Given the description of an element on the screen output the (x, y) to click on. 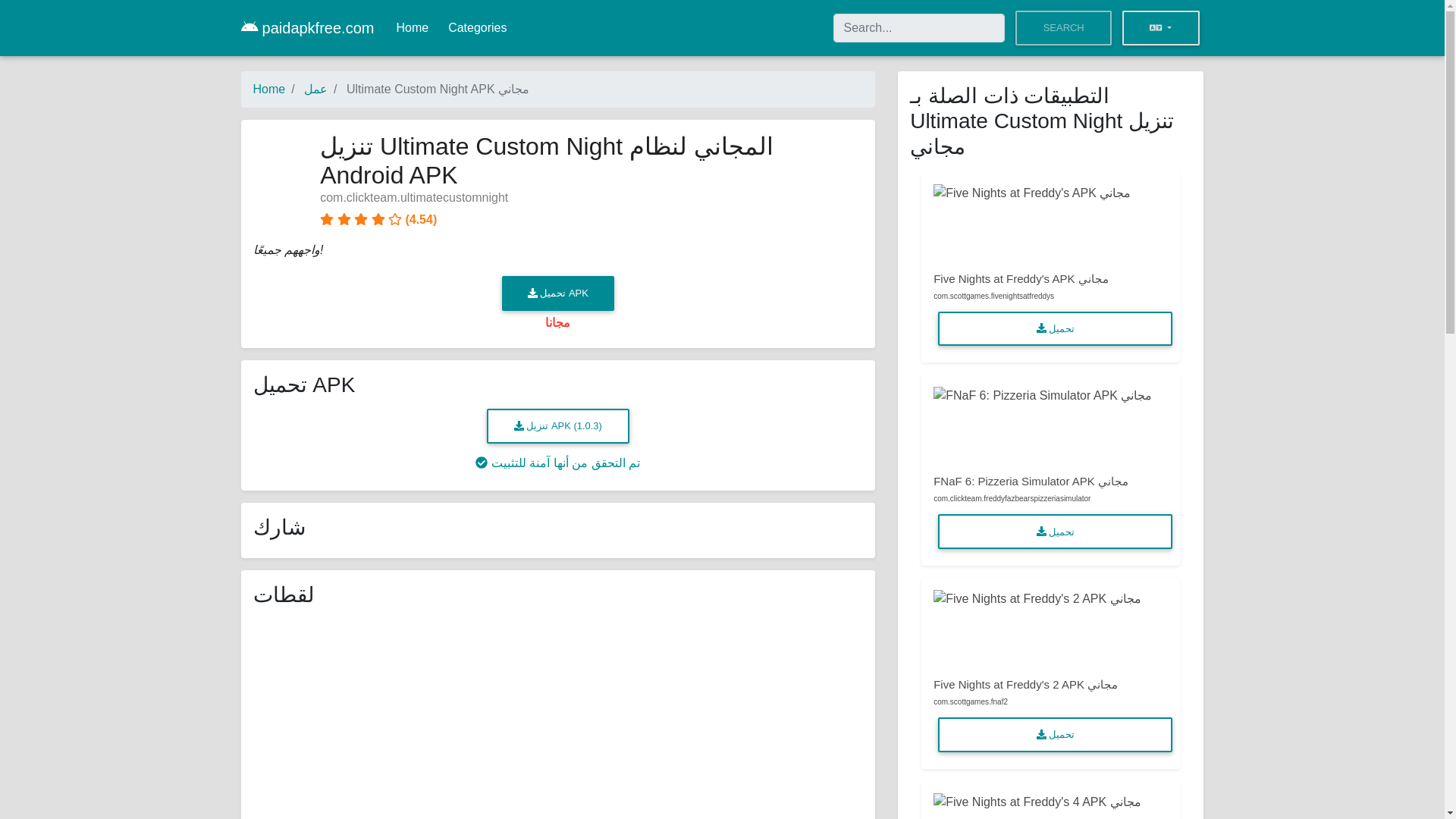
paidapkfree.com (307, 28)
Categories (477, 28)
Home (269, 88)
SEARCH (1062, 27)
Home (411, 28)
